Given the description of an element on the screen output the (x, y) to click on. 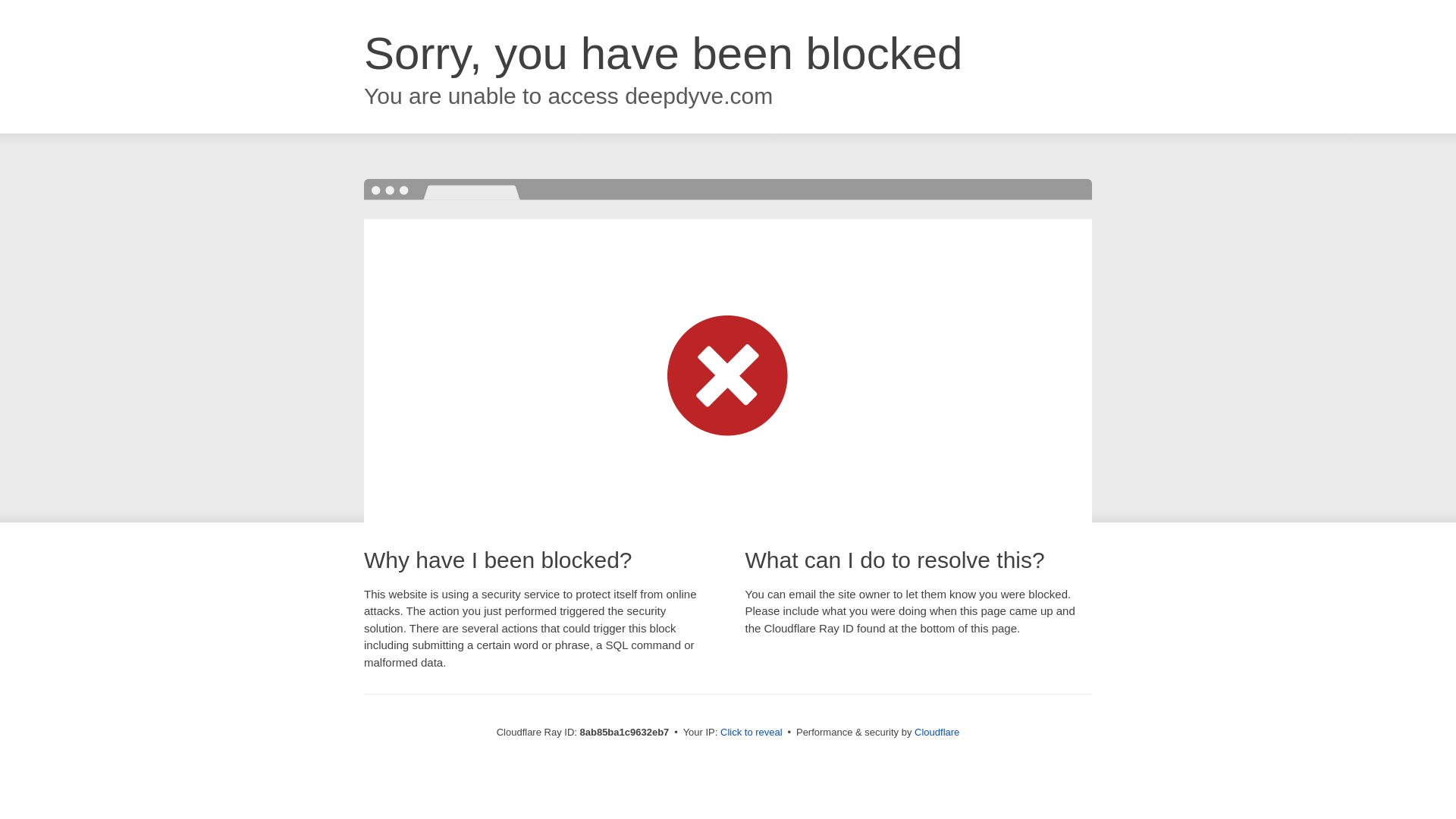
Click to reveal (751, 732)
Cloudflare (936, 731)
